Given the description of an element on the screen output the (x, y) to click on. 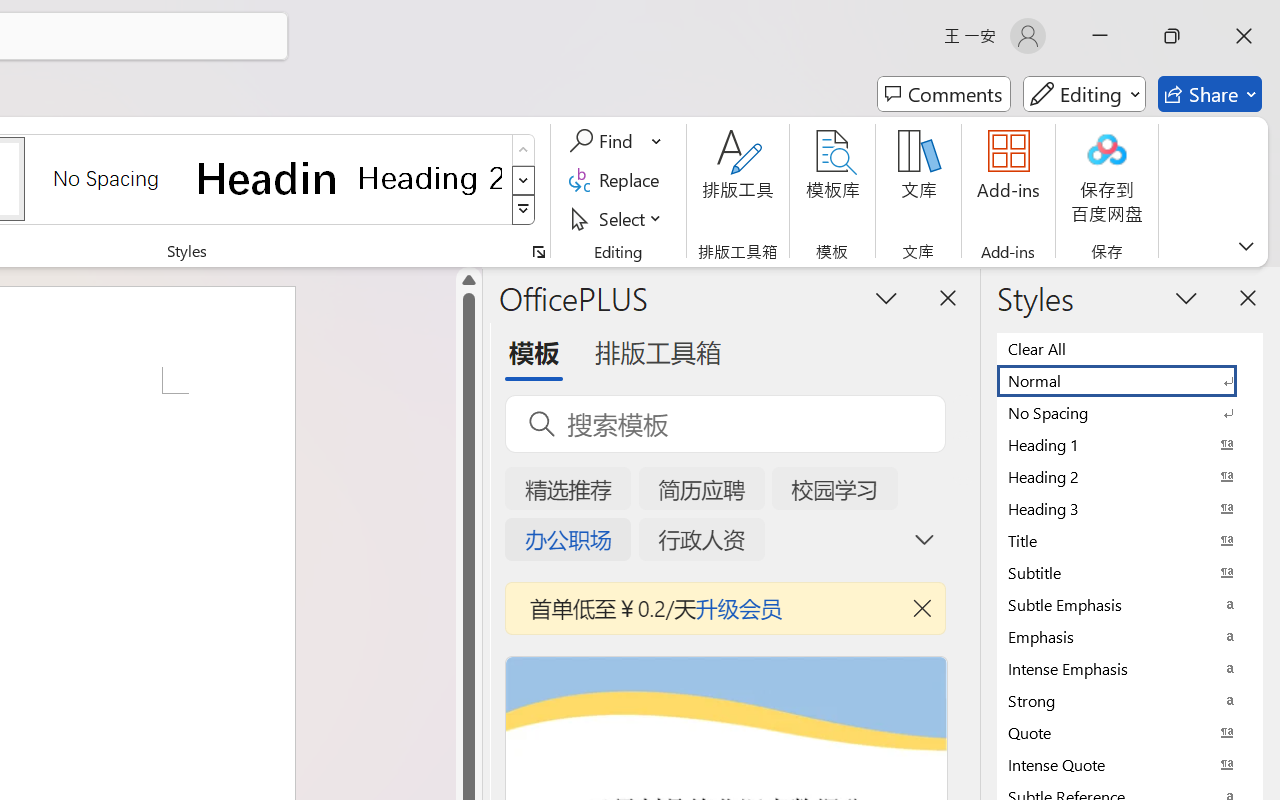
Line up (468, 279)
Quote (1130, 732)
Task Pane Options (886, 297)
Emphasis (1130, 636)
Row up (523, 150)
Intense Quote (1130, 764)
Class: NetUIImage (523, 210)
Heading 1 (267, 178)
Find (604, 141)
Minimize (1099, 36)
Styles (523, 209)
